Given the description of an element on the screen output the (x, y) to click on. 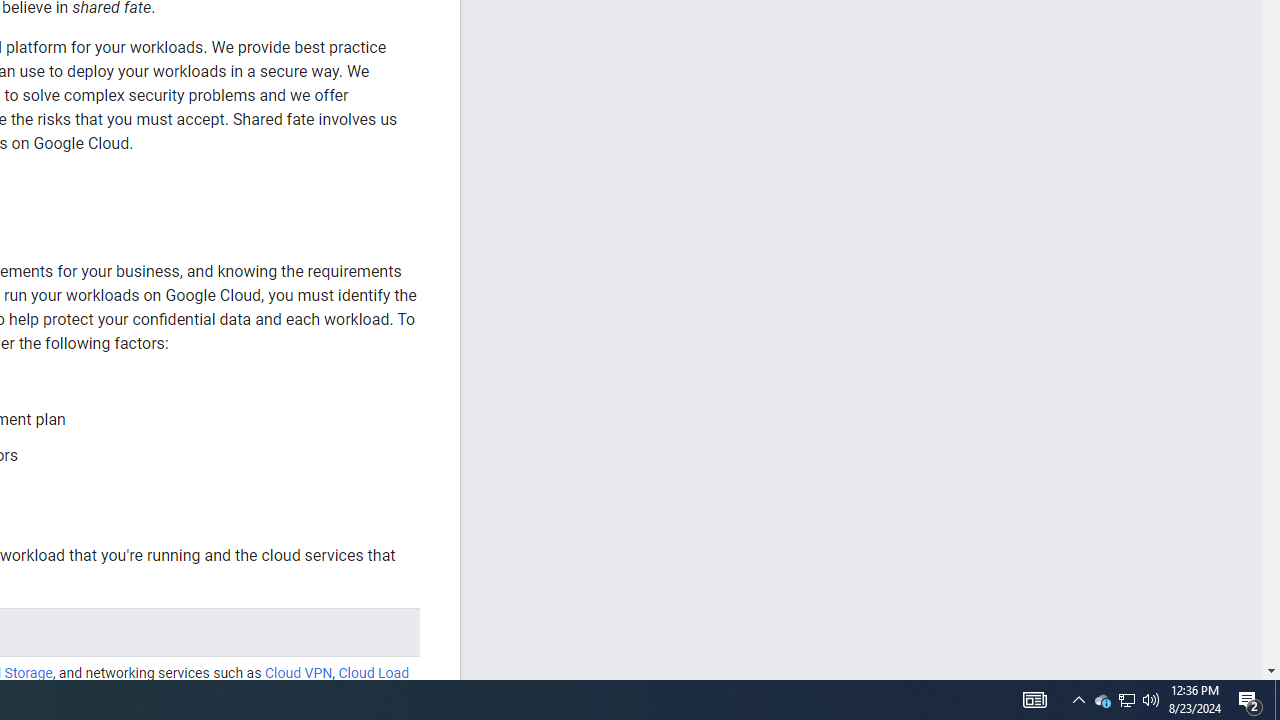
Cloud VPN (297, 673)
